Given the description of an element on the screen output the (x, y) to click on. 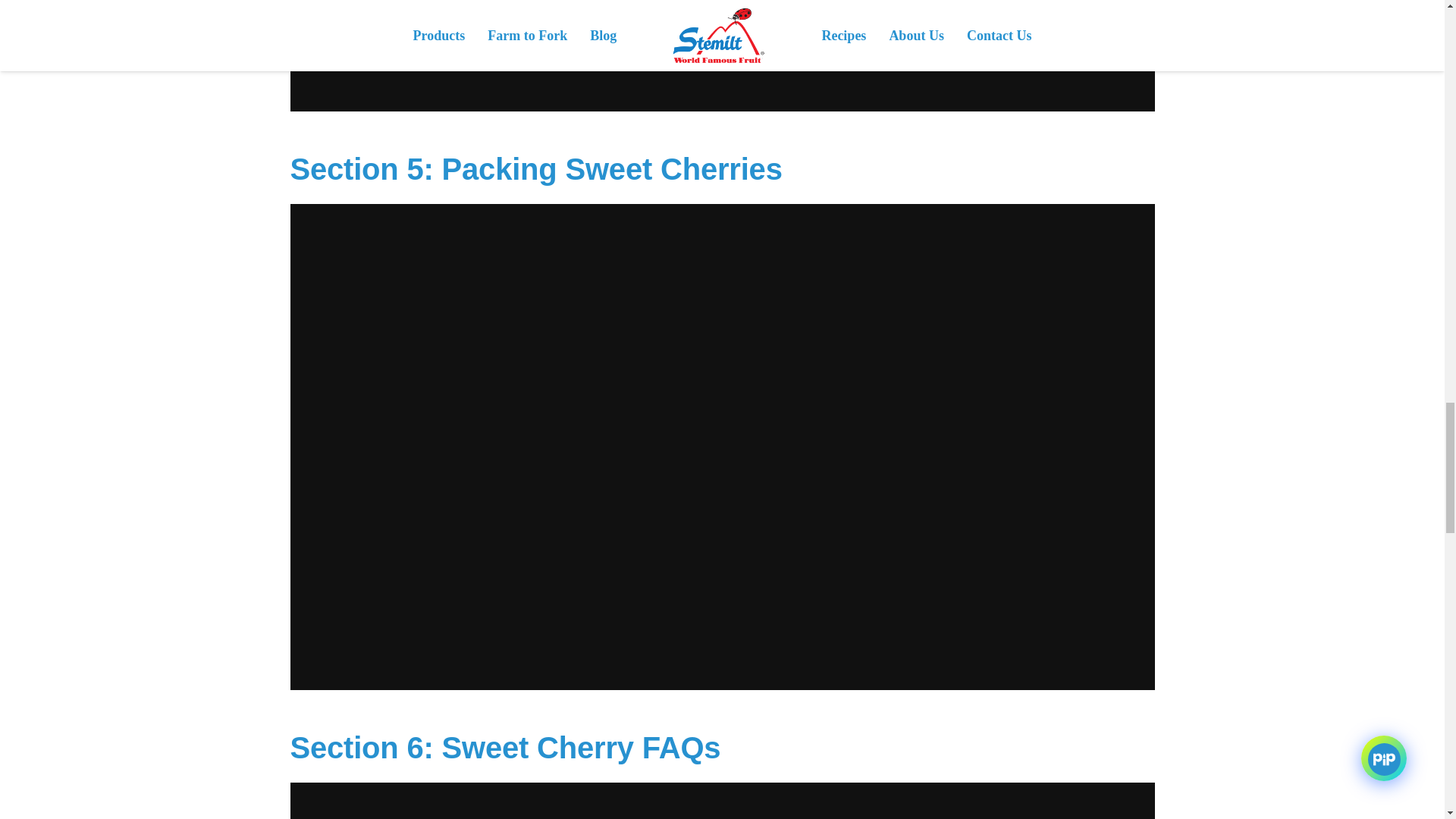
Youtube video player (721, 55)
Youtube video player (721, 800)
